Given the description of an element on the screen output the (x, y) to click on. 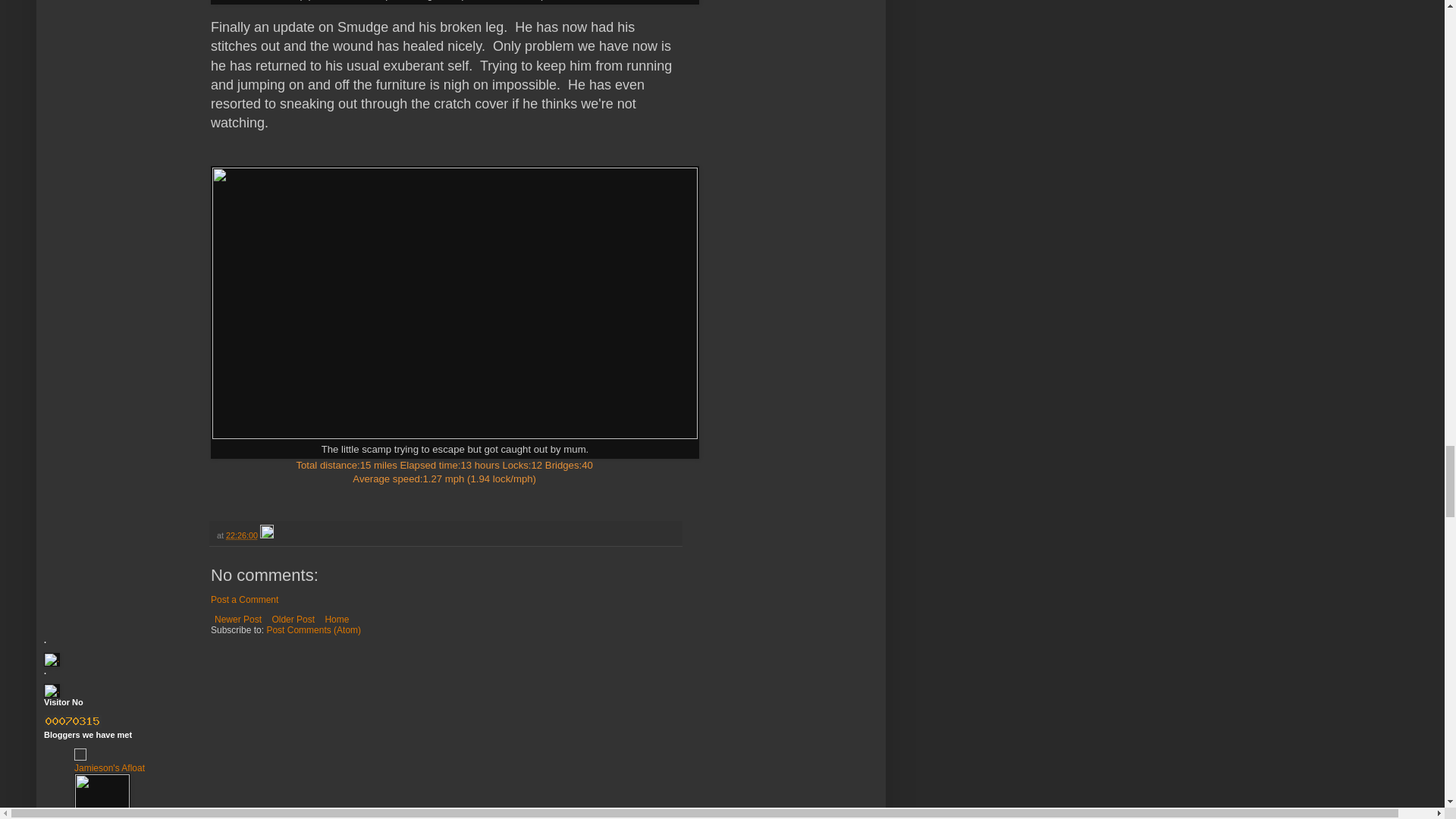
22:26:00 (241, 534)
Home (336, 619)
Older Post (292, 619)
permanent link (241, 534)
Newer Post (237, 619)
Edit Post (266, 534)
Jamieson's Afloat (109, 767)
Older Post (292, 619)
Newer Post (237, 619)
Post a Comment (244, 599)
